Given the description of an element on the screen output the (x, y) to click on. 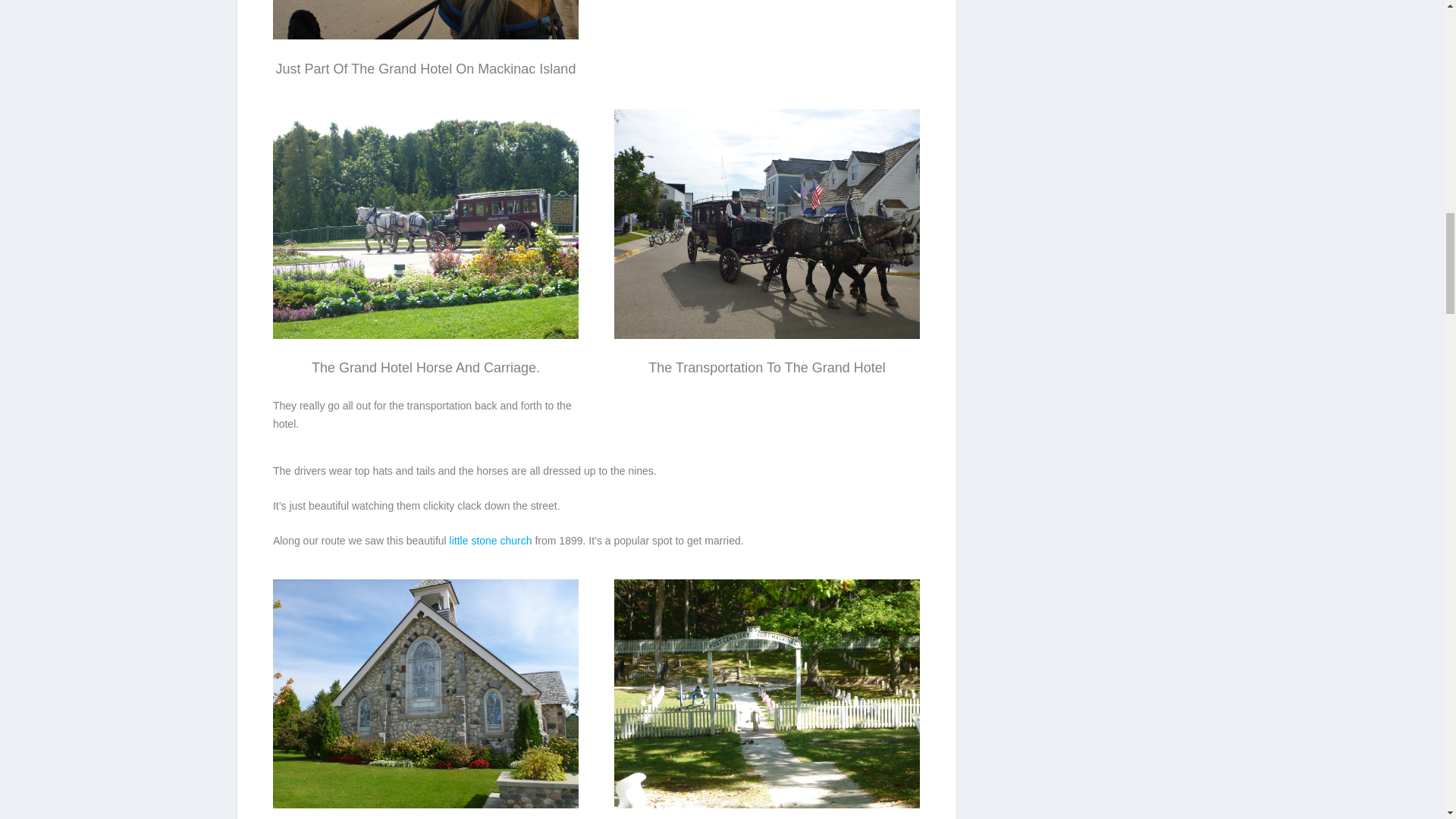
Just Part Of The Grand Hotel On Mackinac Island (425, 19)
Just Part Of The Grand Hotel On Mackinac Island (425, 35)
little stone church (490, 540)
The Grand Hotel Horse And Carriage. (425, 335)
